Given the description of an element on the screen output the (x, y) to click on. 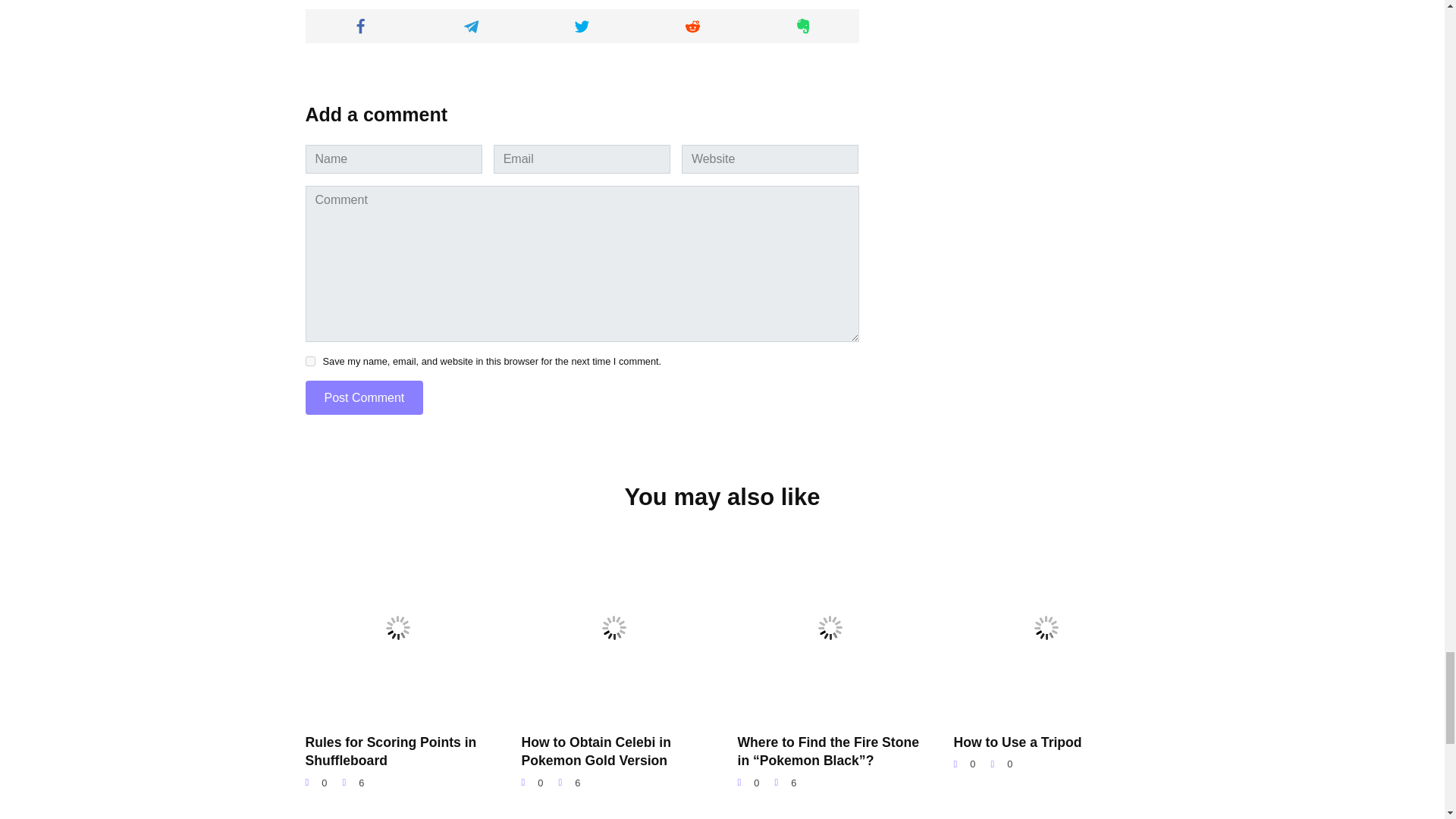
yes (309, 361)
Post Comment (363, 397)
